Given the description of an element on the screen output the (x, y) to click on. 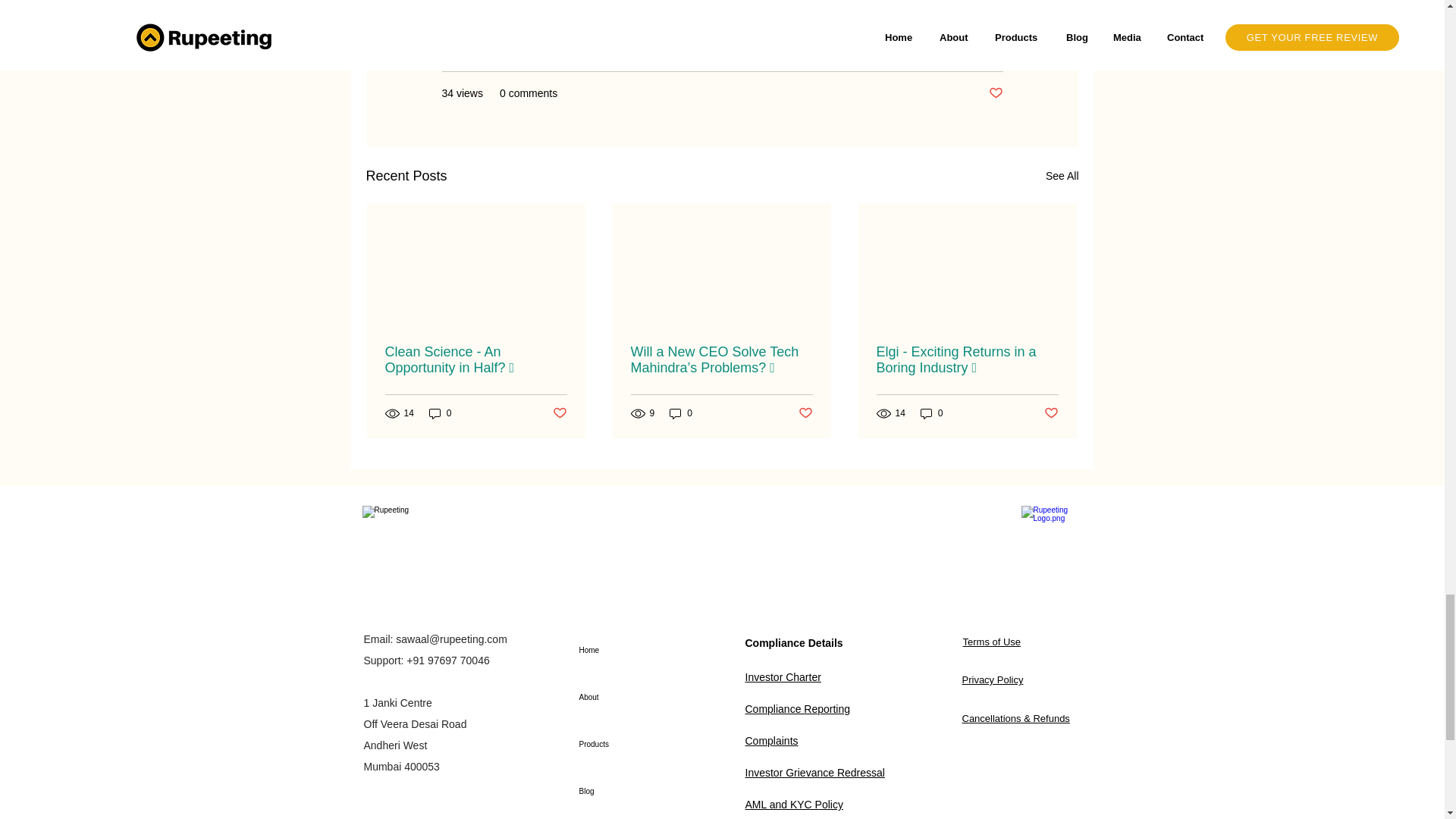
Post not marked as liked (804, 413)
Post not marked as liked (995, 93)
Post not marked as liked (1050, 413)
See All (1061, 176)
Stocks (987, 48)
Post not marked as liked (558, 413)
Home (632, 650)
0 (440, 413)
0 (931, 413)
0 (681, 413)
About (632, 697)
